Given the description of an element on the screen output the (x, y) to click on. 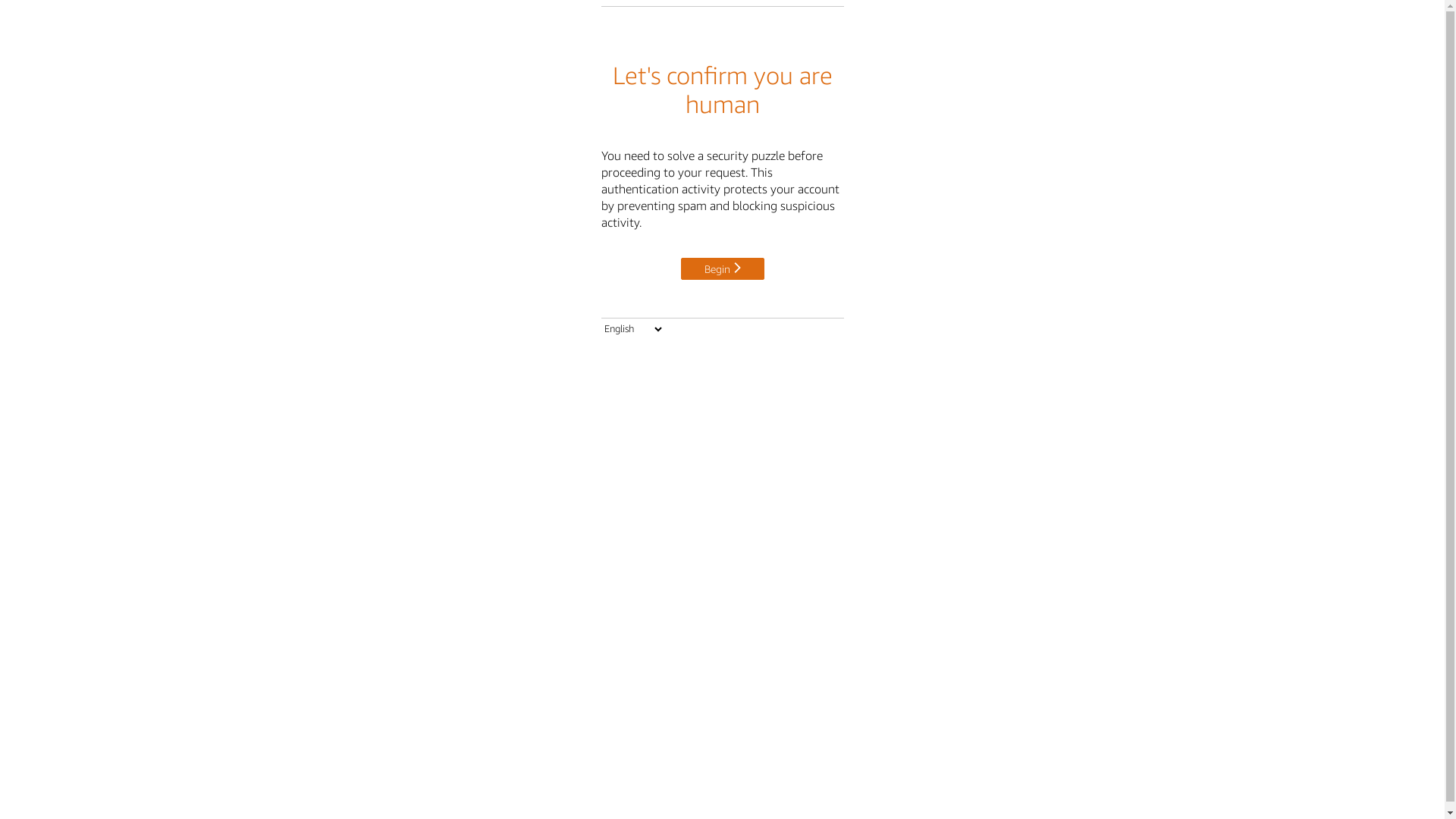
Begin Element type: text (722, 268)
